Given the description of an element on the screen output the (x, y) to click on. 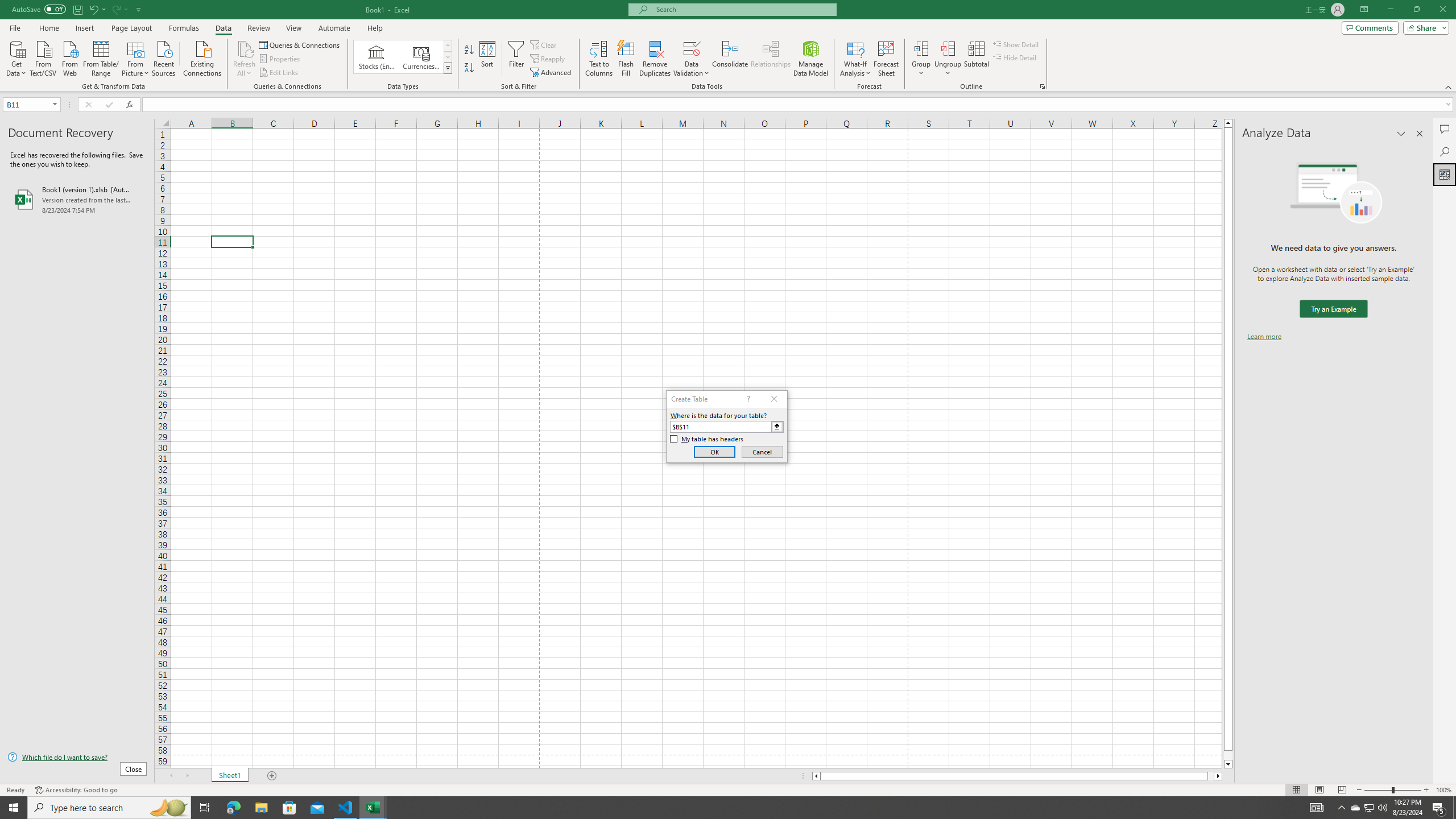
Group and Outline Settings (1042, 85)
Task Pane Options (1400, 133)
Sort... (487, 58)
Filter (515, 58)
Hide Detail (1014, 56)
Forecast Sheet (885, 58)
Stocks (English) (375, 56)
Advanced... (551, 72)
Learn more (1264, 336)
Get Data (16, 57)
Row Down (448, 56)
Column right (1218, 775)
